Given the description of an element on the screen output the (x, y) to click on. 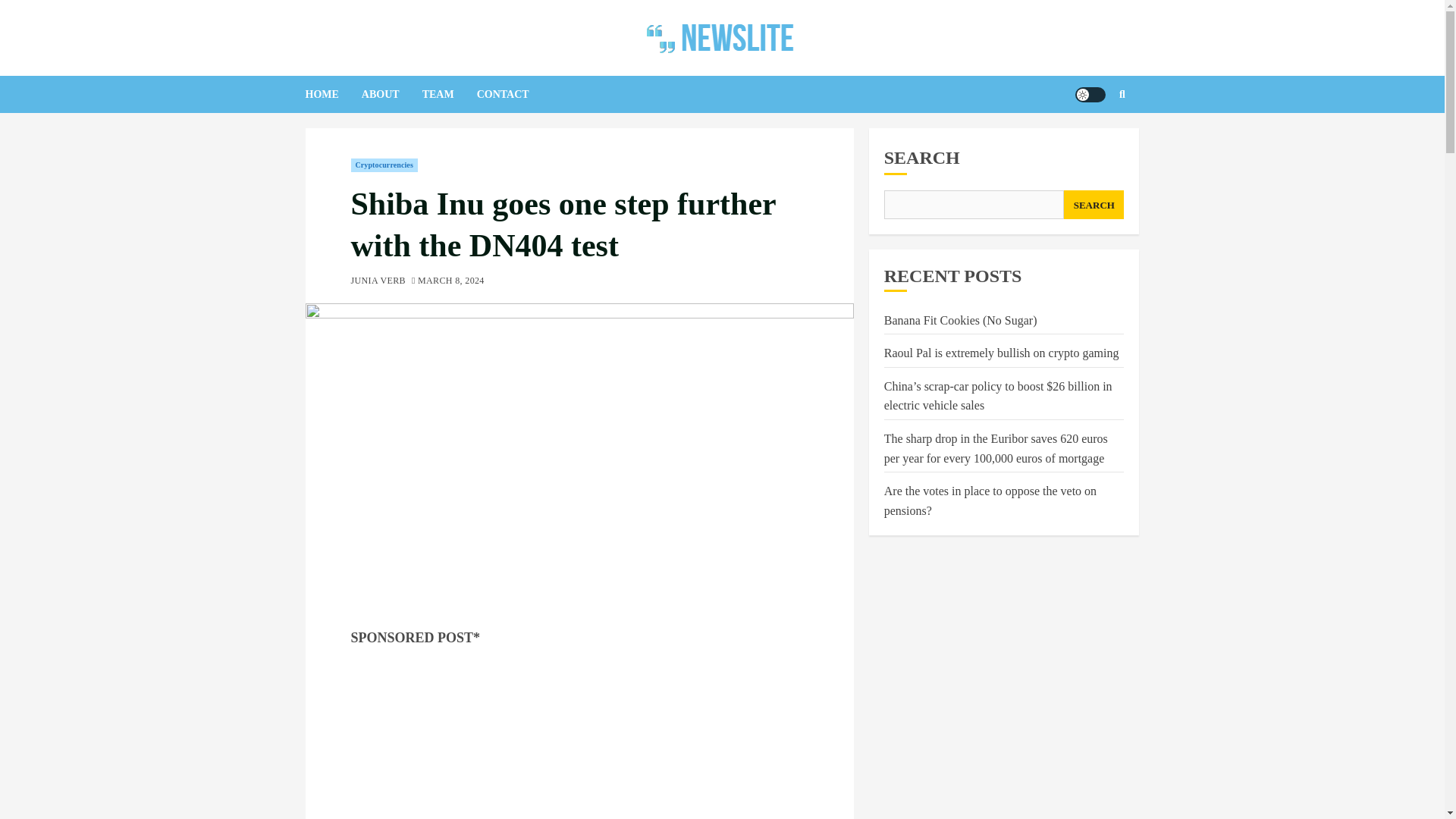
JUNIA VERB (377, 281)
Are the votes in place to oppose the veto on pensions? (989, 500)
ABOUT (391, 94)
Raoul Pal is extremely bullish on crypto gaming (1001, 353)
Cryptocurrencies (383, 164)
MARCH 8, 2024 (450, 281)
Search (1092, 140)
SEARCH (1094, 204)
TEAM (449, 94)
